Given the description of an element on the screen output the (x, y) to click on. 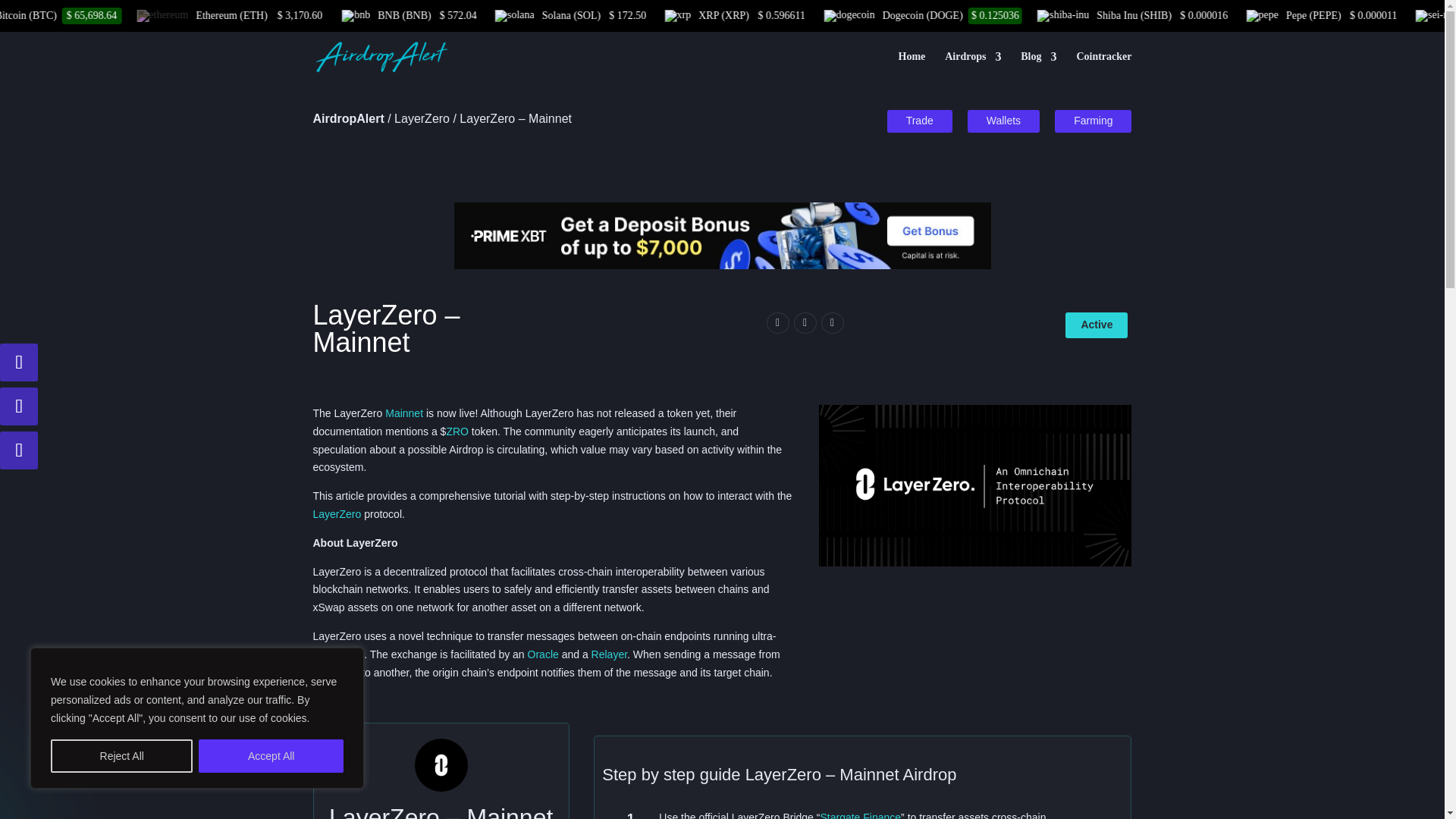
Blast-Mainnet5555 (975, 485)
Follow on X (18, 362)
Follow on Telegram (18, 406)
Cointracker (1103, 68)
Reject All (121, 756)
Follow on Facebook (18, 450)
Blog (1038, 68)
Airdrops (972, 68)
Accept All (270, 756)
Home (912, 68)
